Given the description of an element on the screen output the (x, y) to click on. 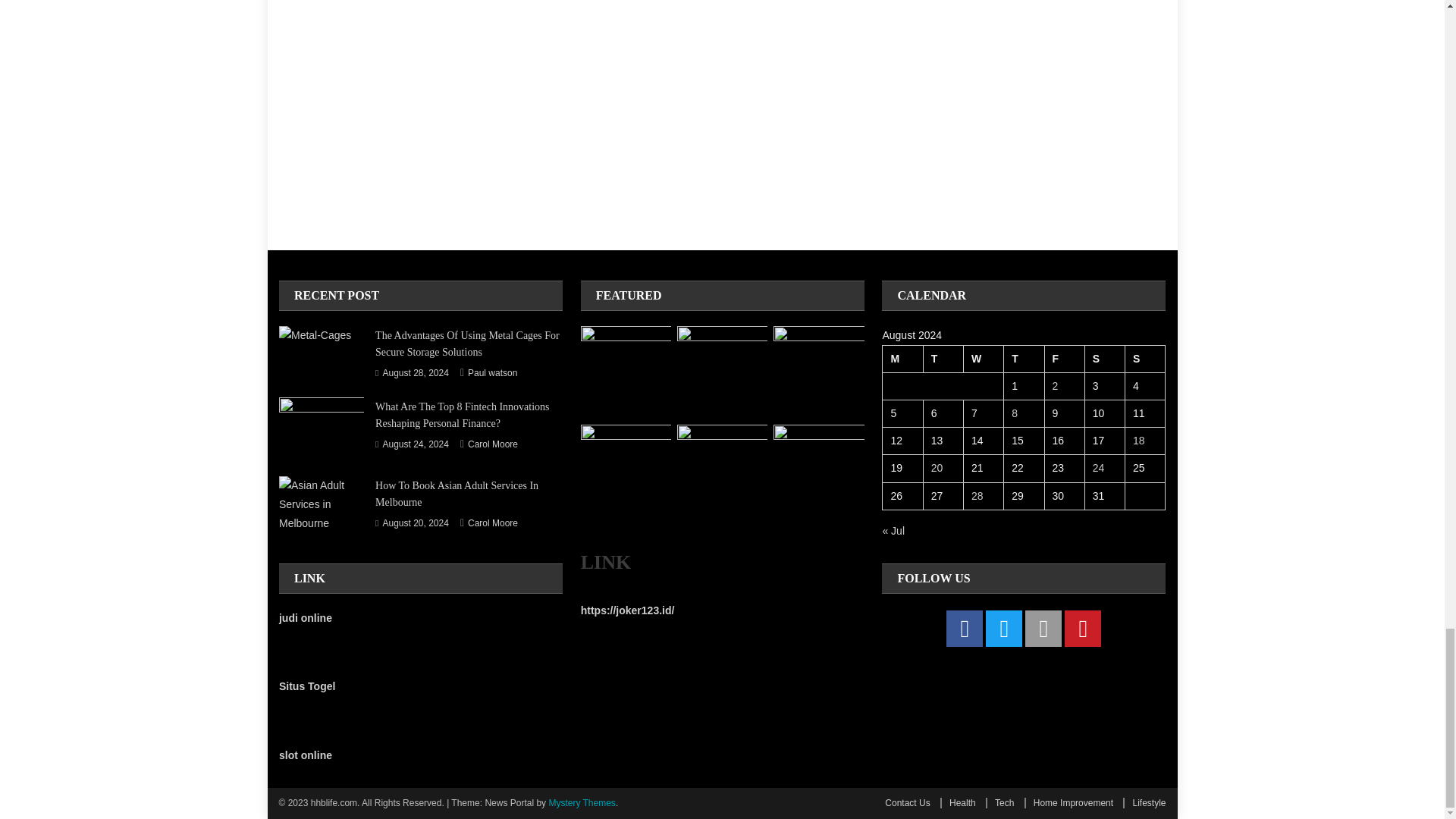
Facebook (964, 628)
Saturday (1104, 358)
Pinterest (1082, 628)
LinkedIn (1043, 628)
Monday (902, 358)
Twitter (1003, 628)
Sunday (1145, 358)
Tuesday (942, 358)
Wednesday (982, 358)
Friday (1063, 358)
